Given the description of an element on the screen output the (x, y) to click on. 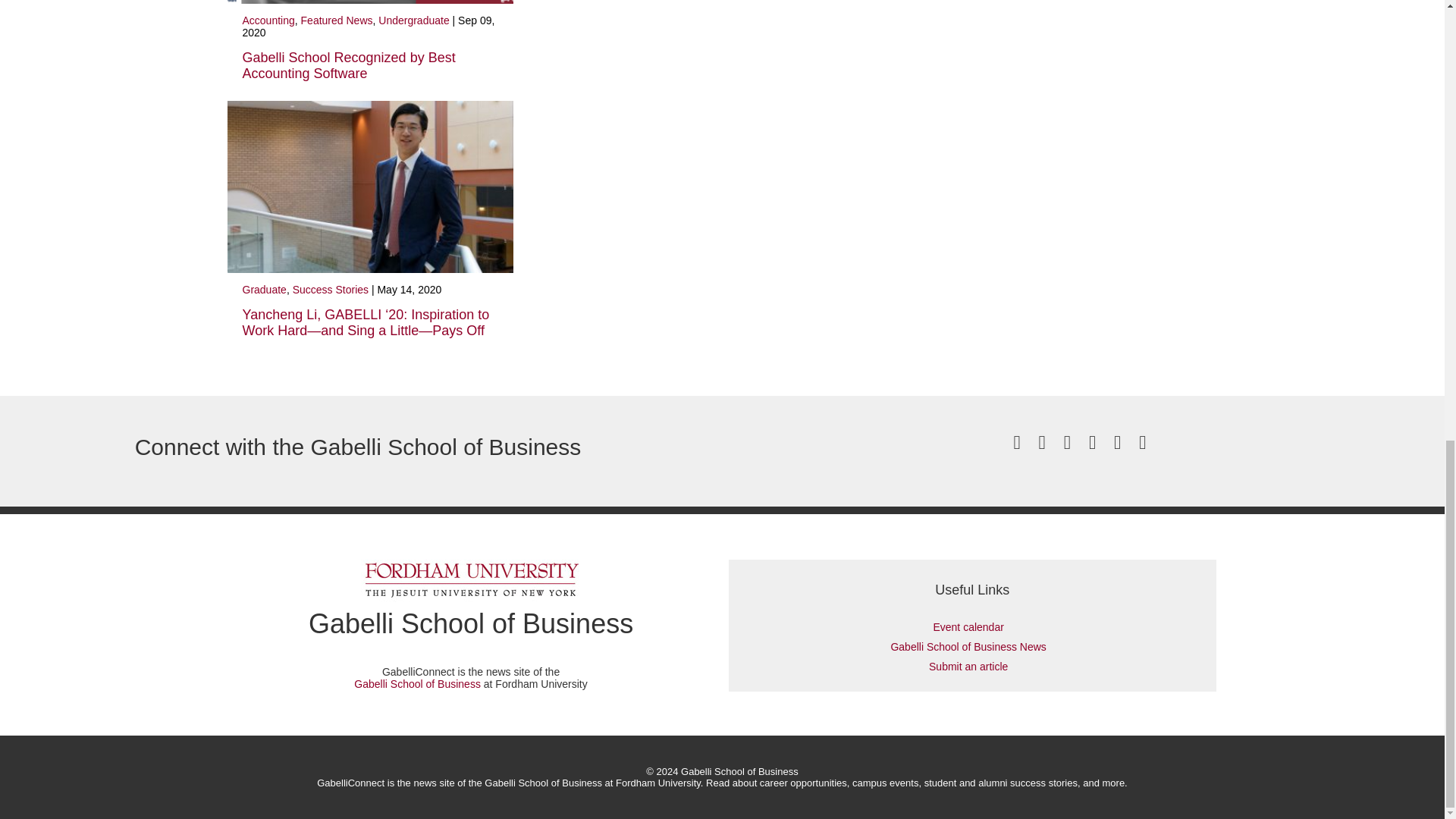
Gabelli School Recognized by Best Accounting Software (349, 65)
